Given the description of an element on the screen output the (x, y) to click on. 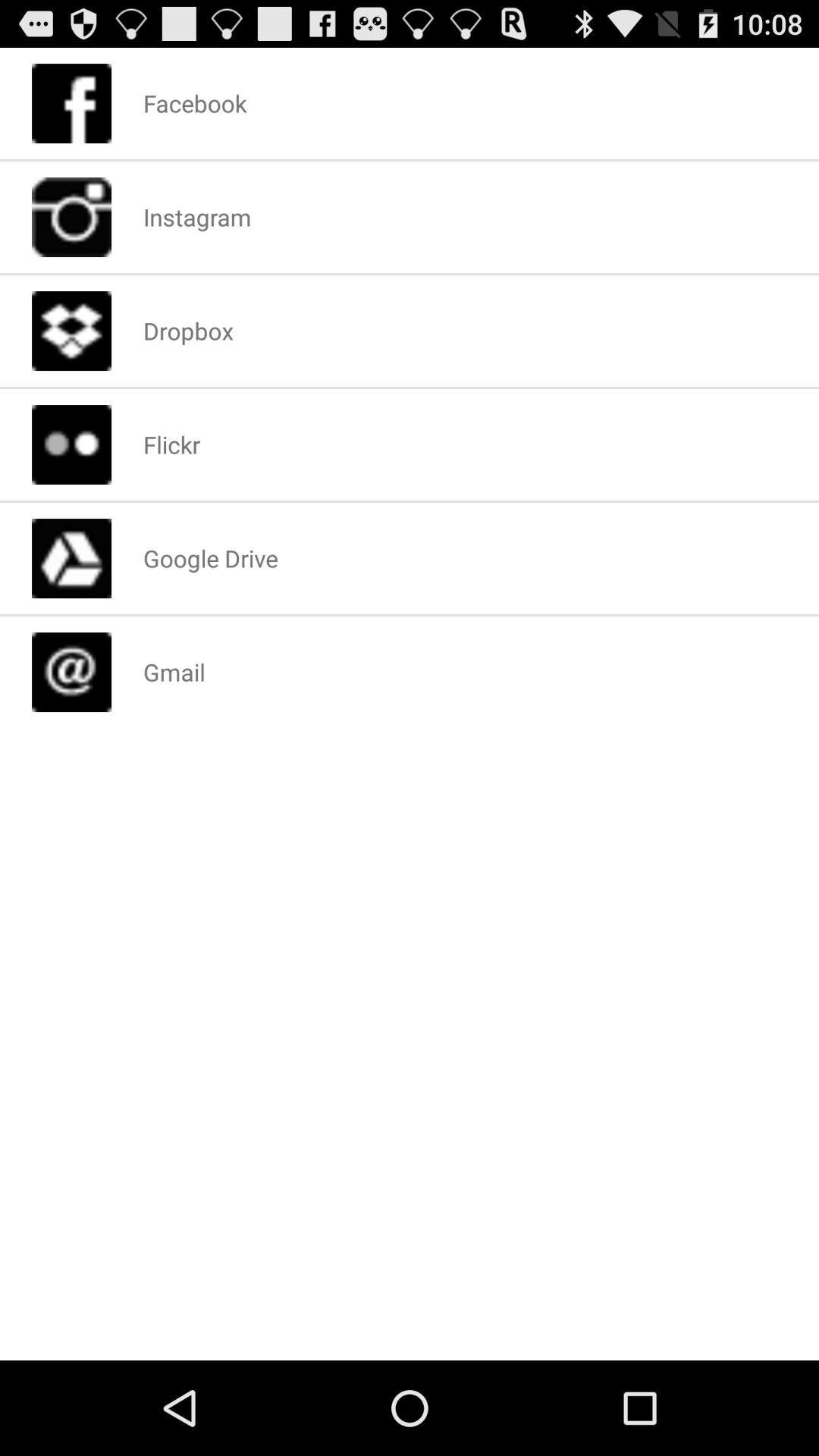
tap the icon below instagram icon (188, 330)
